Given the description of an element on the screen output the (x, y) to click on. 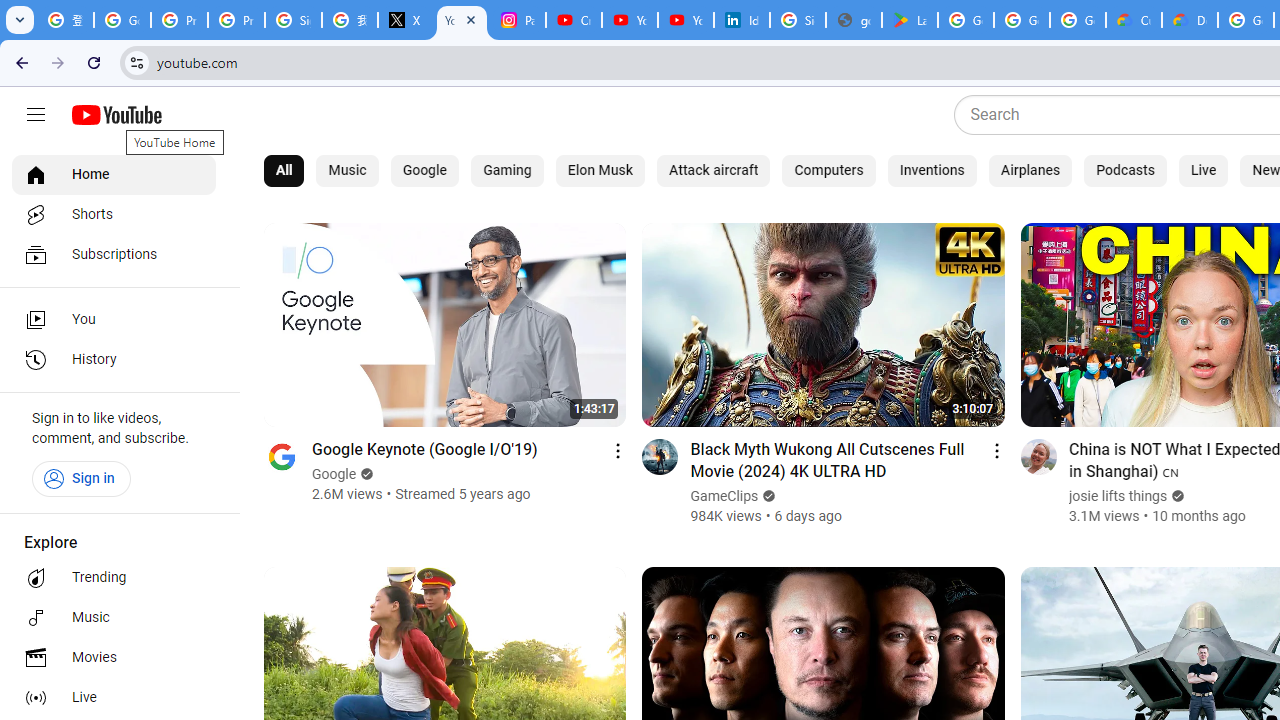
Podcasts (1125, 170)
YouTube Home (116, 115)
Subscriptions (113, 254)
josie lifts things (1117, 496)
Guide (35, 115)
Airplanes (1030, 170)
Music (347, 170)
Privacy Help Center - Policies Help (179, 20)
All (283, 170)
